Given the description of an element on the screen output the (x, y) to click on. 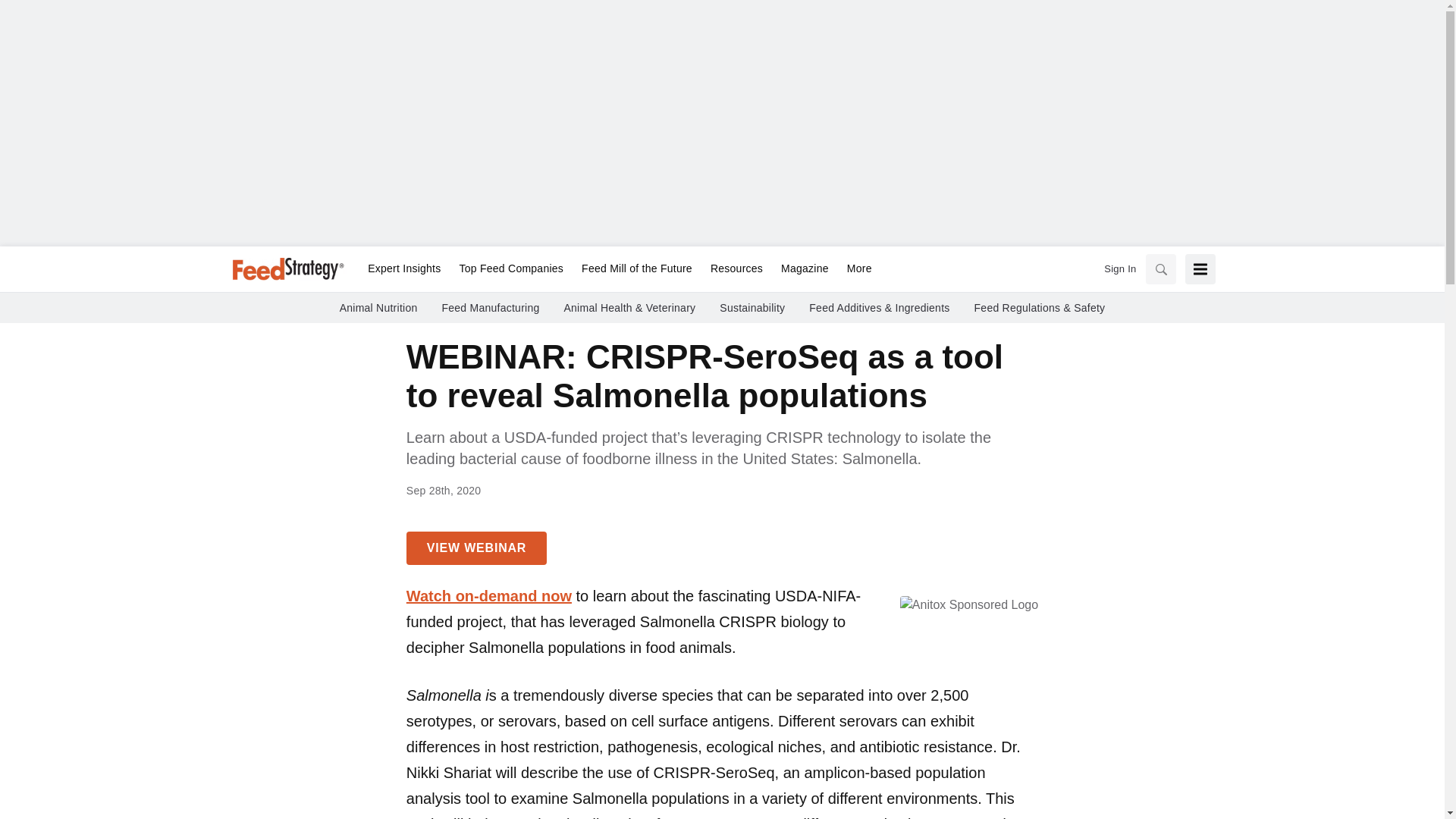
Animal Nutrition (378, 307)
View Webinar (476, 548)
More (855, 269)
Top Feed Companies (511, 269)
Sign In (1119, 268)
Feed Mill of the Future (636, 269)
Magazine (804, 269)
Expert Insights (403, 269)
Resources (736, 269)
Sustainability (751, 307)
Feed Manufacturing (489, 307)
